Given the description of an element on the screen output the (x, y) to click on. 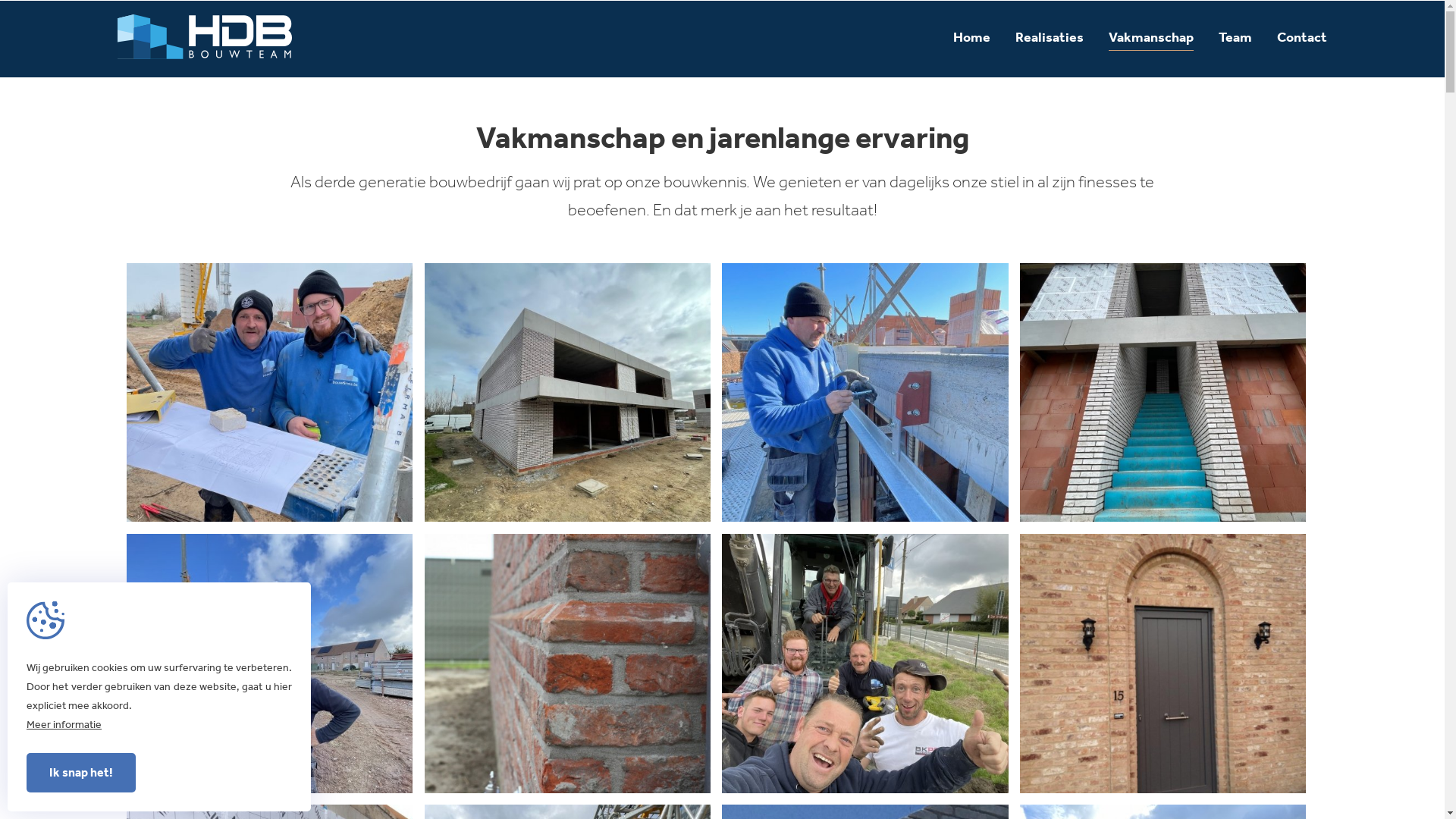
Team Element type: text (1235, 39)
Realisaties Element type: text (1049, 39)
Ik snap het! Element type: text (80, 772)
Meer informatie Element type: text (63, 724)
Contact Element type: text (1302, 39)
Vakmanschap Element type: text (1150, 39)
Home Element type: text (971, 39)
